Given the description of an element on the screen output the (x, y) to click on. 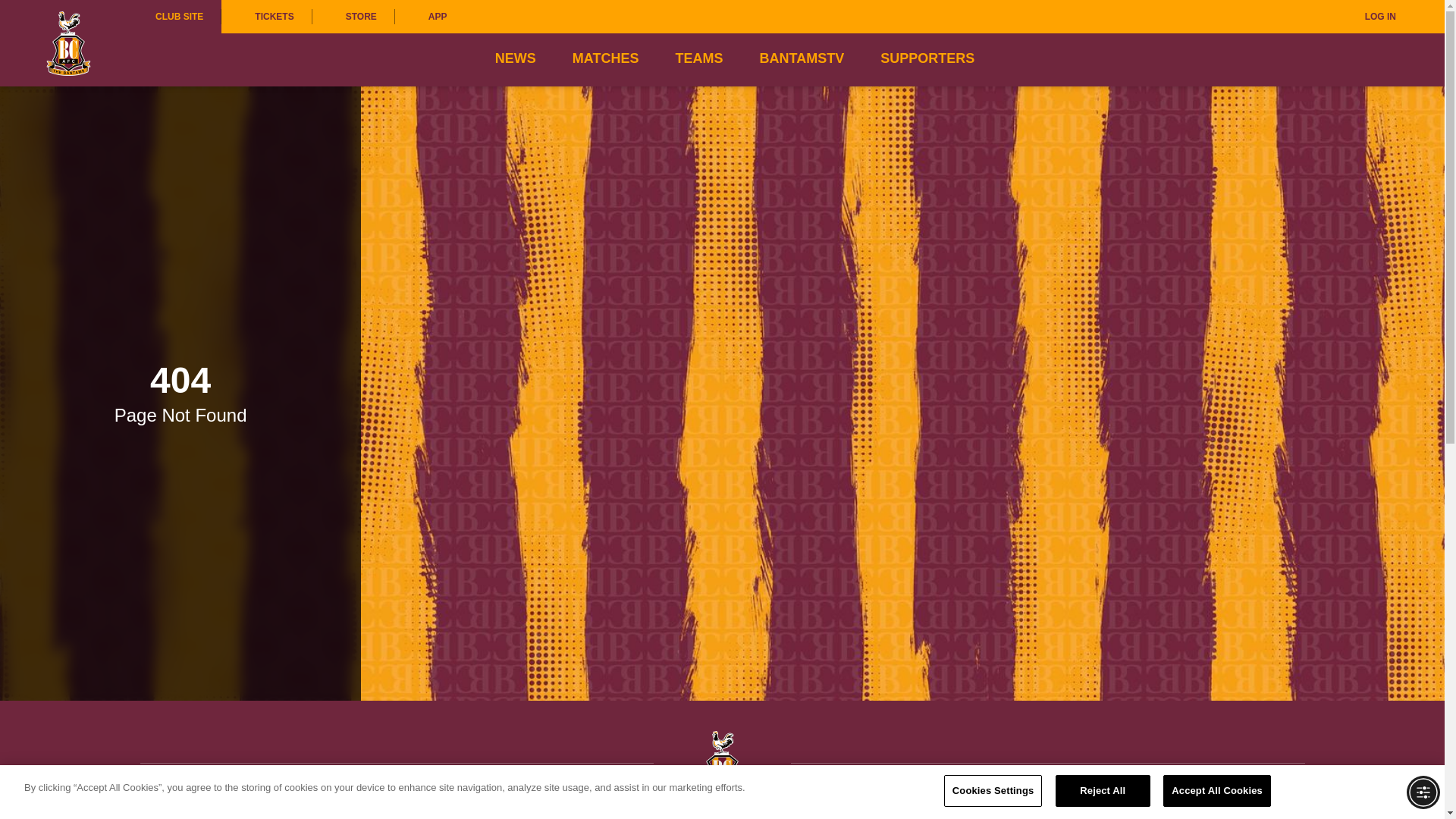
STORE (353, 16)
APP (429, 16)
CLUB SITE (178, 16)
BANTAMSTV (801, 58)
MATCHES (605, 58)
TICKETS (266, 16)
LOG IN (1369, 16)
SUPPORTERS (927, 58)
TEAMS (698, 58)
Accessibility Menu (1422, 792)
